Given the description of an element on the screen output the (x, y) to click on. 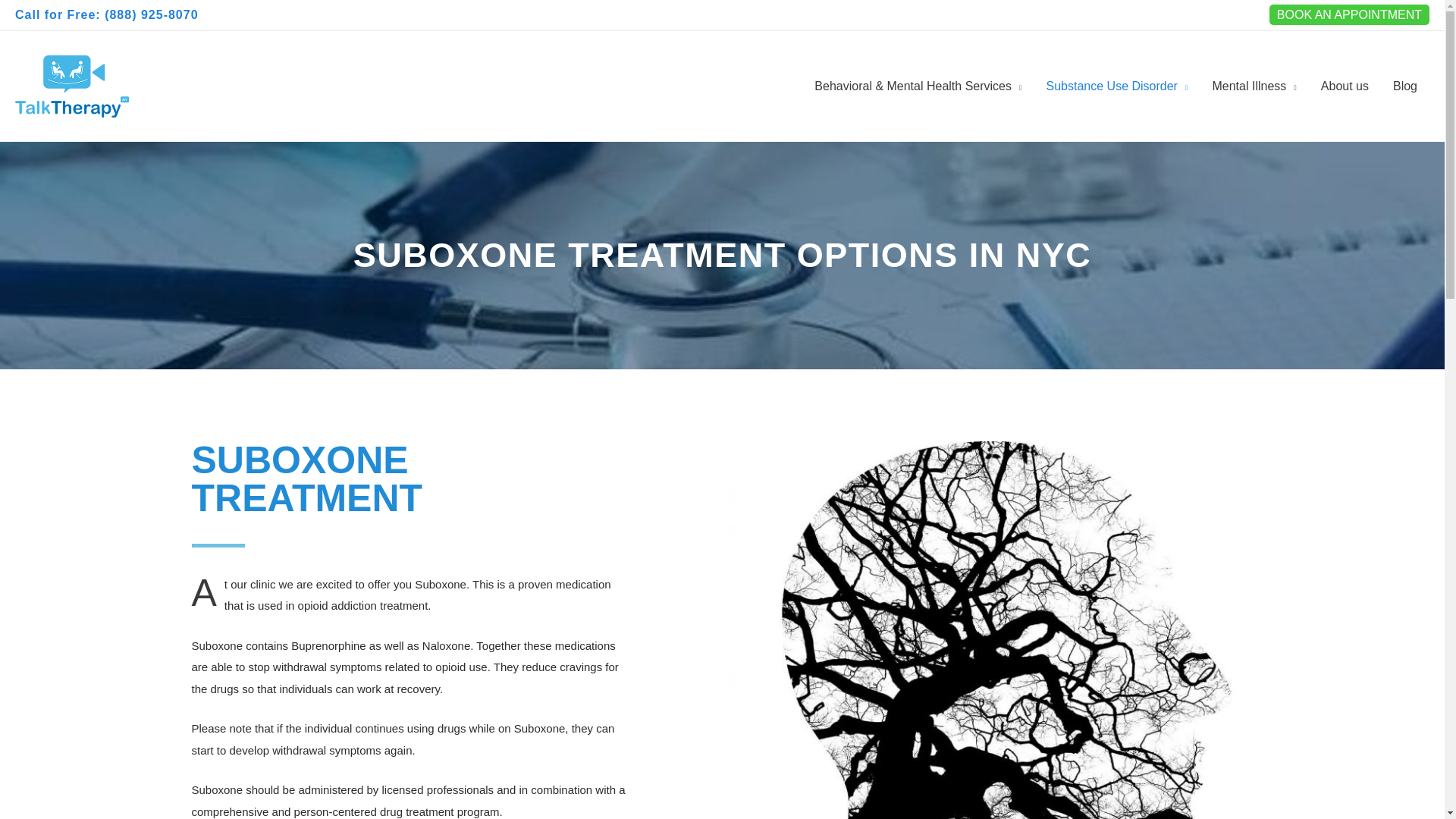
Blog (1404, 86)
Substance Use Disorder (1116, 86)
Mental Illness (1253, 86)
BOOK AN APPOINTMENT (1349, 14)
About us (1344, 86)
